Given the description of an element on the screen output the (x, y) to click on. 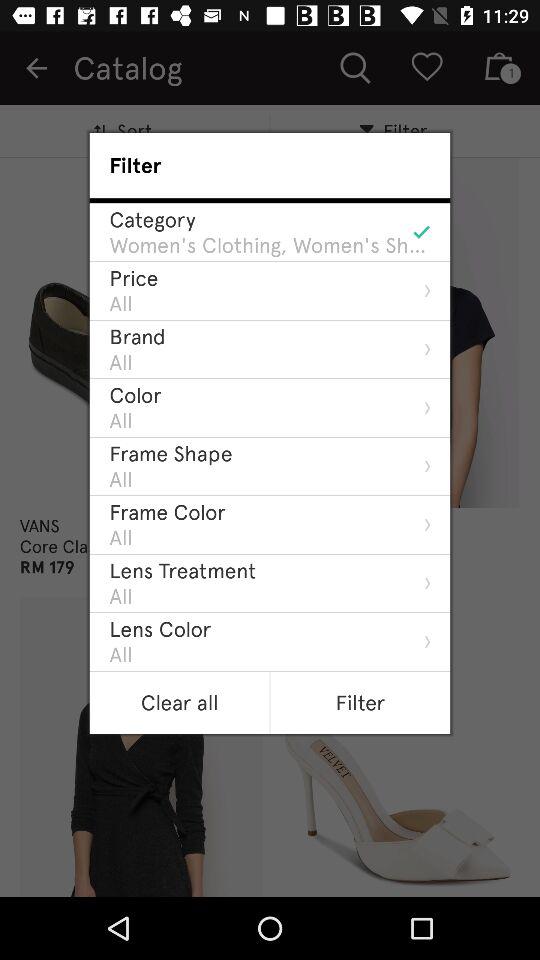
open the icon below all (167, 512)
